Given the description of an element on the screen output the (x, y) to click on. 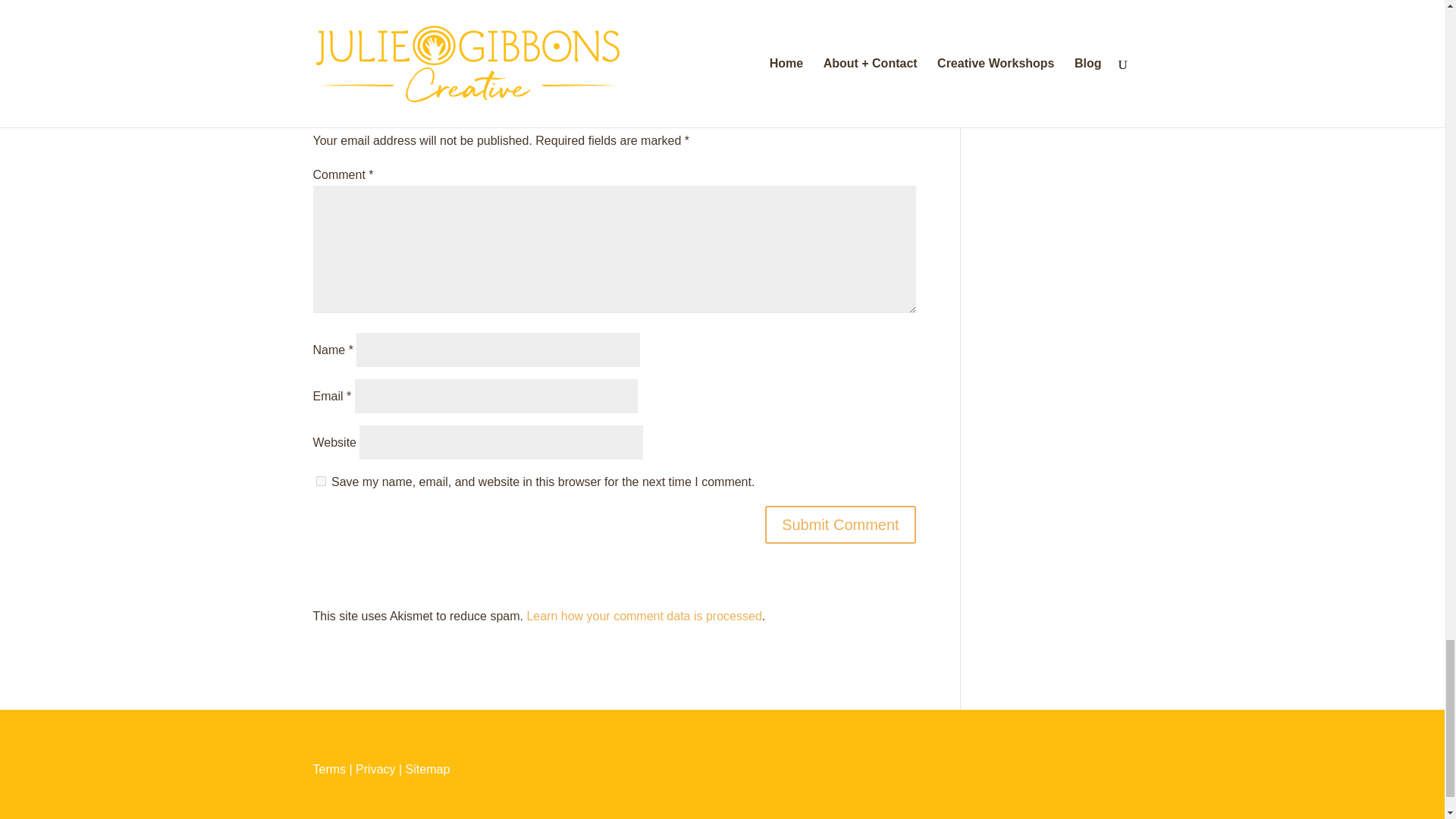
Terms (329, 768)
yes (319, 480)
Submit Comment (840, 524)
Privacy (374, 768)
Submit Comment (840, 524)
Sitemap (427, 768)
Learn how your comment data is processed (643, 615)
